Given the description of an element on the screen output the (x, y) to click on. 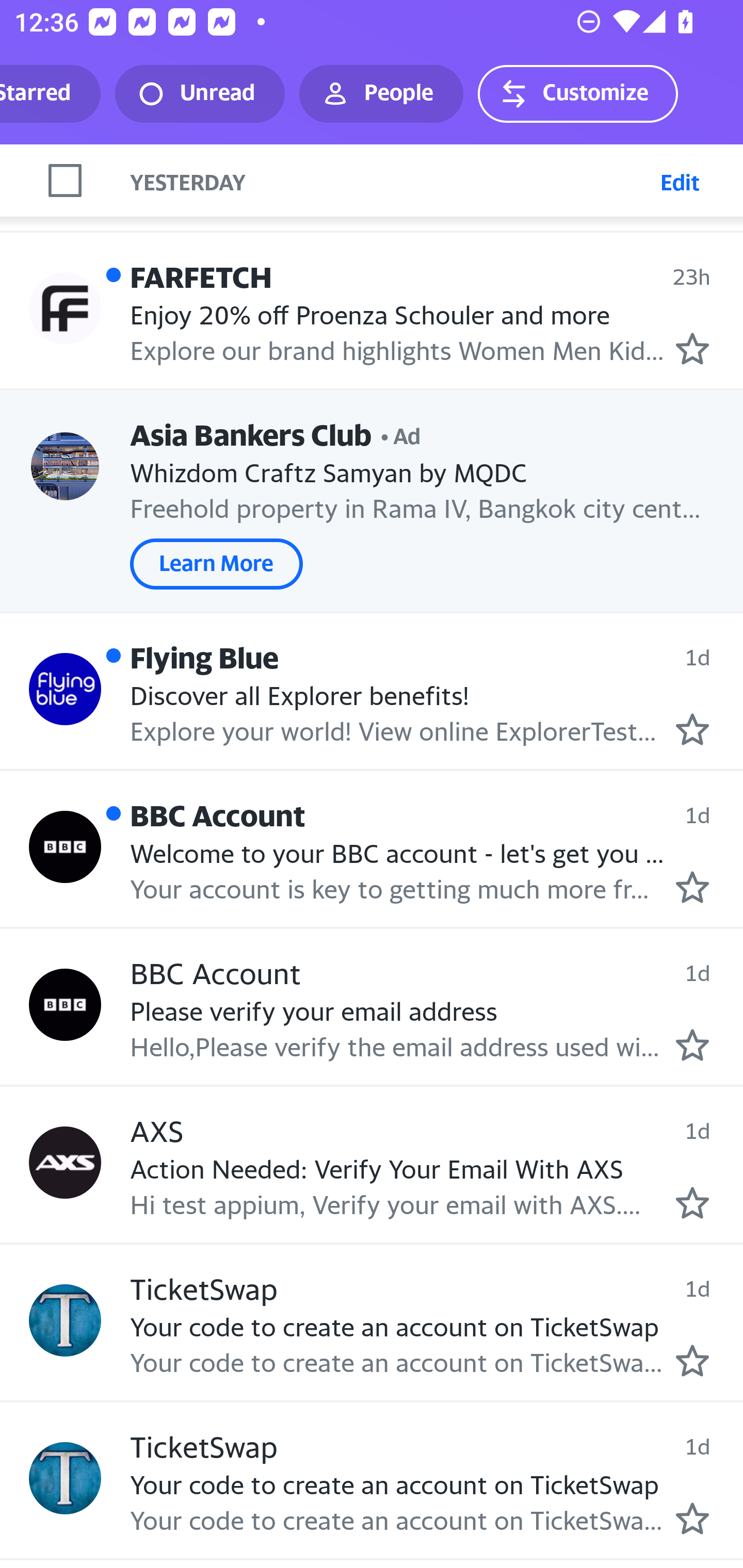
Unread (199, 93)
People (381, 93)
Customize (577, 93)
Profile
FARFETCH (64, 308)
Mark as starred. (692, 348)
Profile
Flying Blue (64, 688)
Mark as starred. (692, 729)
Profile
BBC Account (64, 846)
Mark as starred. (692, 886)
Profile
BBC Account (64, 1005)
Mark as starred. (692, 1045)
Profile
AXS (64, 1161)
Mark as starred. (692, 1203)
Profile
TicketSwap (64, 1320)
Mark as starred. (692, 1360)
Profile
TicketSwap (64, 1478)
Mark as starred. (692, 1518)
